Given the description of an element on the screen output the (x, y) to click on. 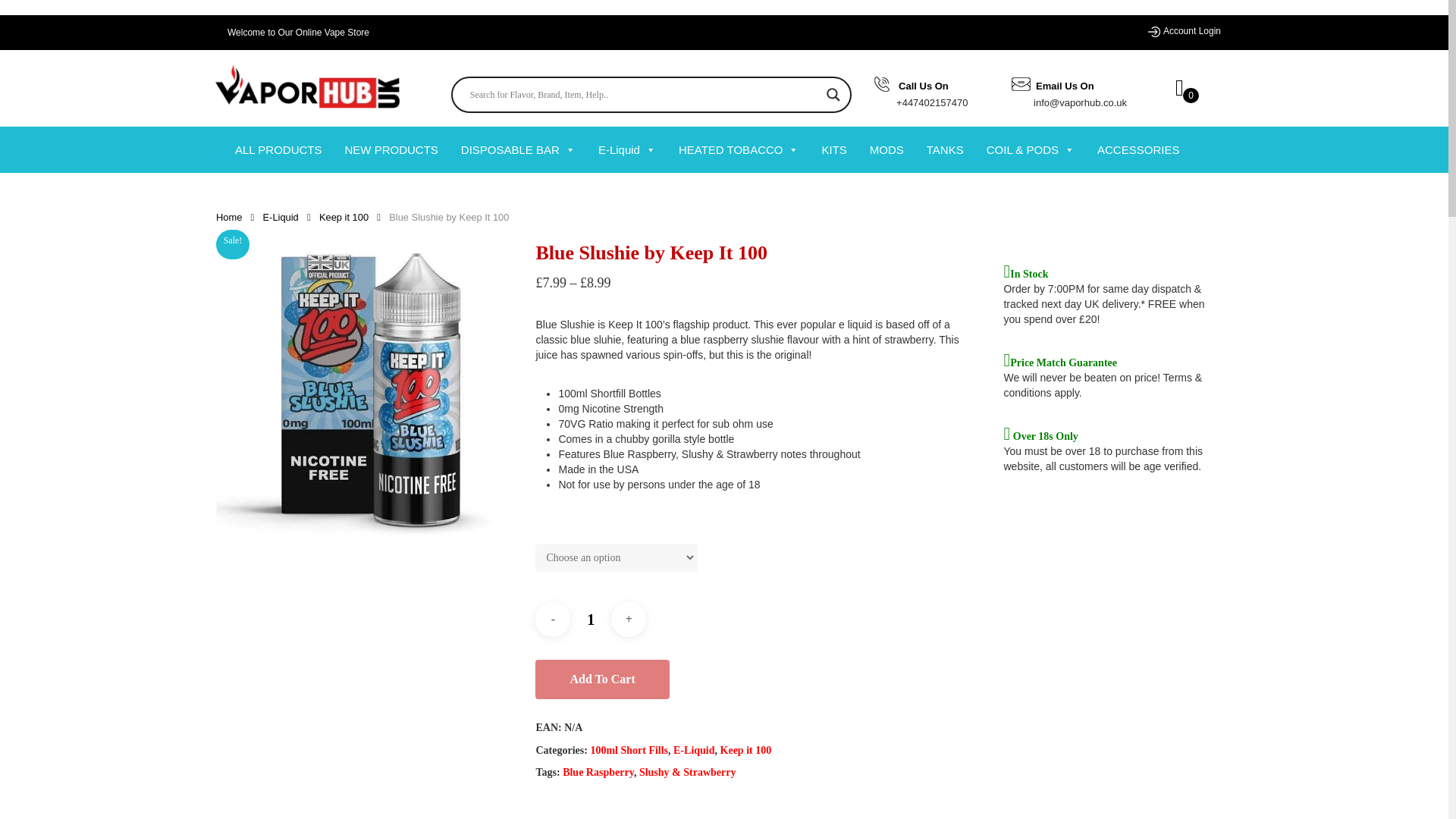
DISPOSABLE BAR (517, 149)
NEW PRODUCTS (390, 149)
1 (590, 619)
ALL PRODUCTS (278, 149)
- (552, 619)
E-Liquid (627, 149)
Blue Slushie by Keep It 100 (368, 392)
Account Login (1192, 30)
MODS (886, 149)
